Given the description of an element on the screen output the (x, y) to click on. 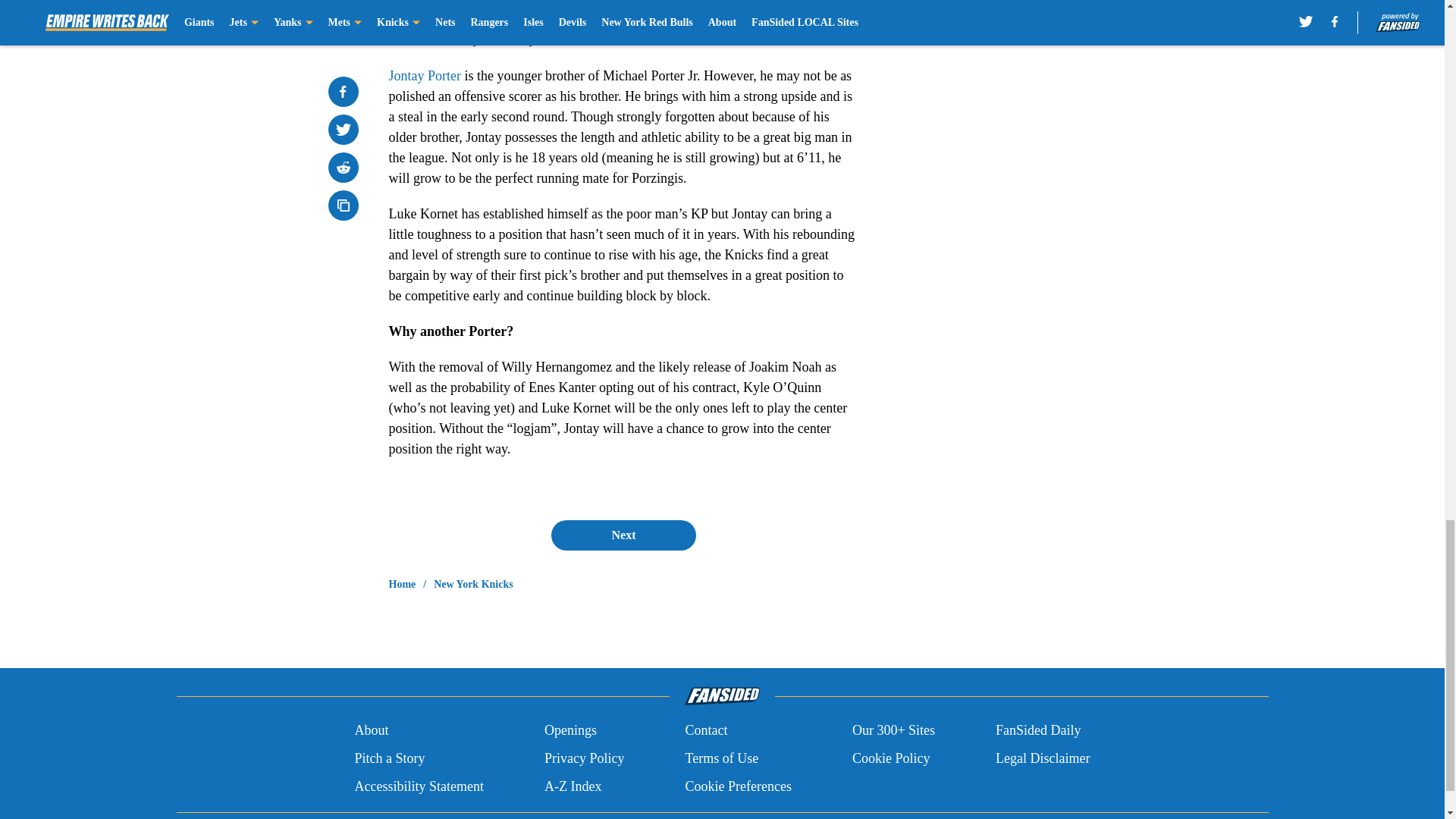
Contact (705, 730)
FanSided Daily (1038, 730)
Jontay Porter (424, 75)
New York Knicks (473, 584)
Next (622, 535)
Openings (570, 730)
Home (401, 584)
About (370, 730)
